Given the description of an element on the screen output the (x, y) to click on. 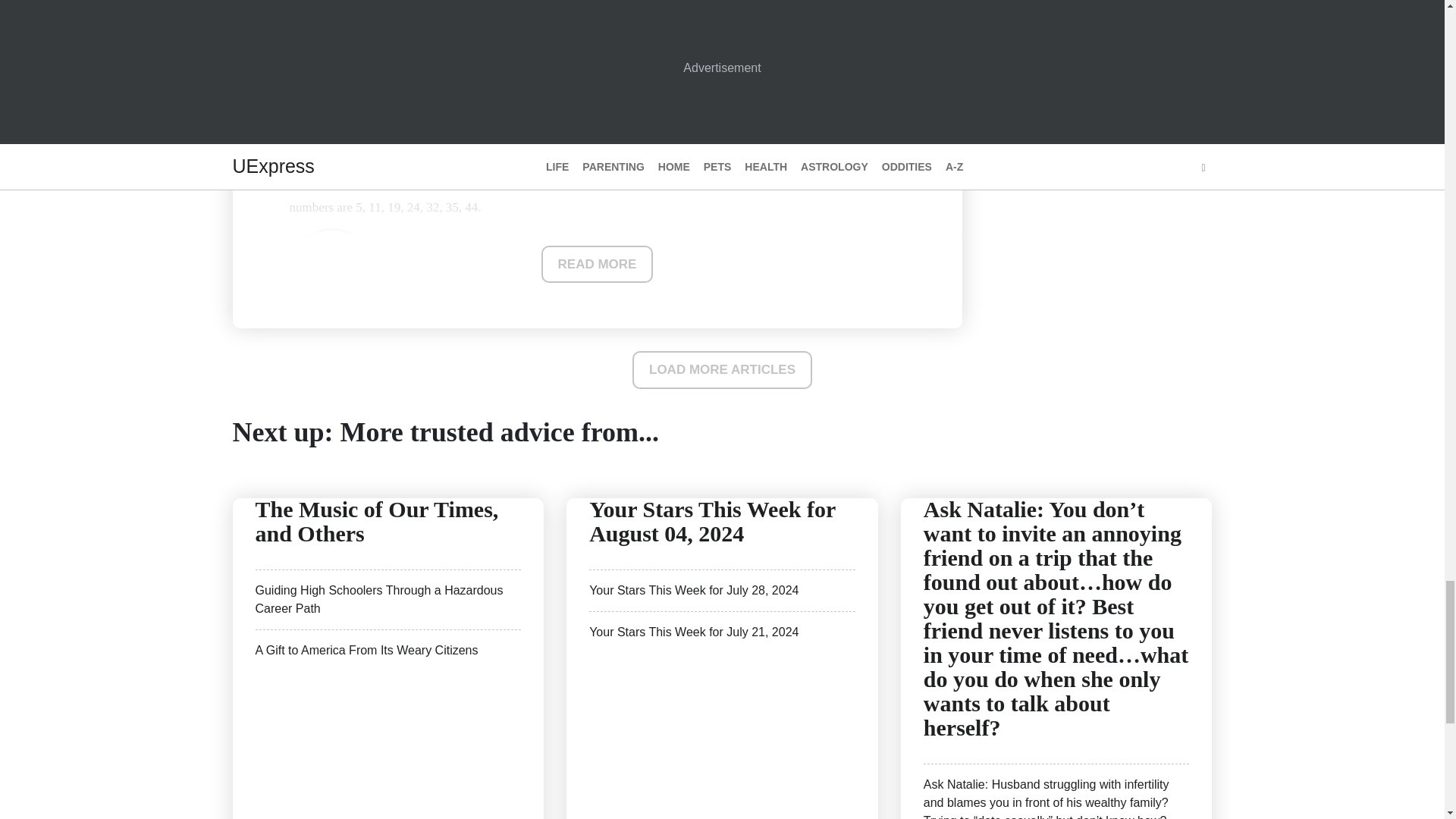
Guiding High Schoolers Through a Hazardous Career Path (378, 599)
A Gift to America From Its Weary Citizens (365, 649)
Last Word in Astrology for May 20, 2018 (398, 7)
The Music of Our Times, and Others (375, 520)
READ MORE (597, 264)
LOAD MORE ARTICLES (721, 370)
